Given the description of an element on the screen output the (x, y) to click on. 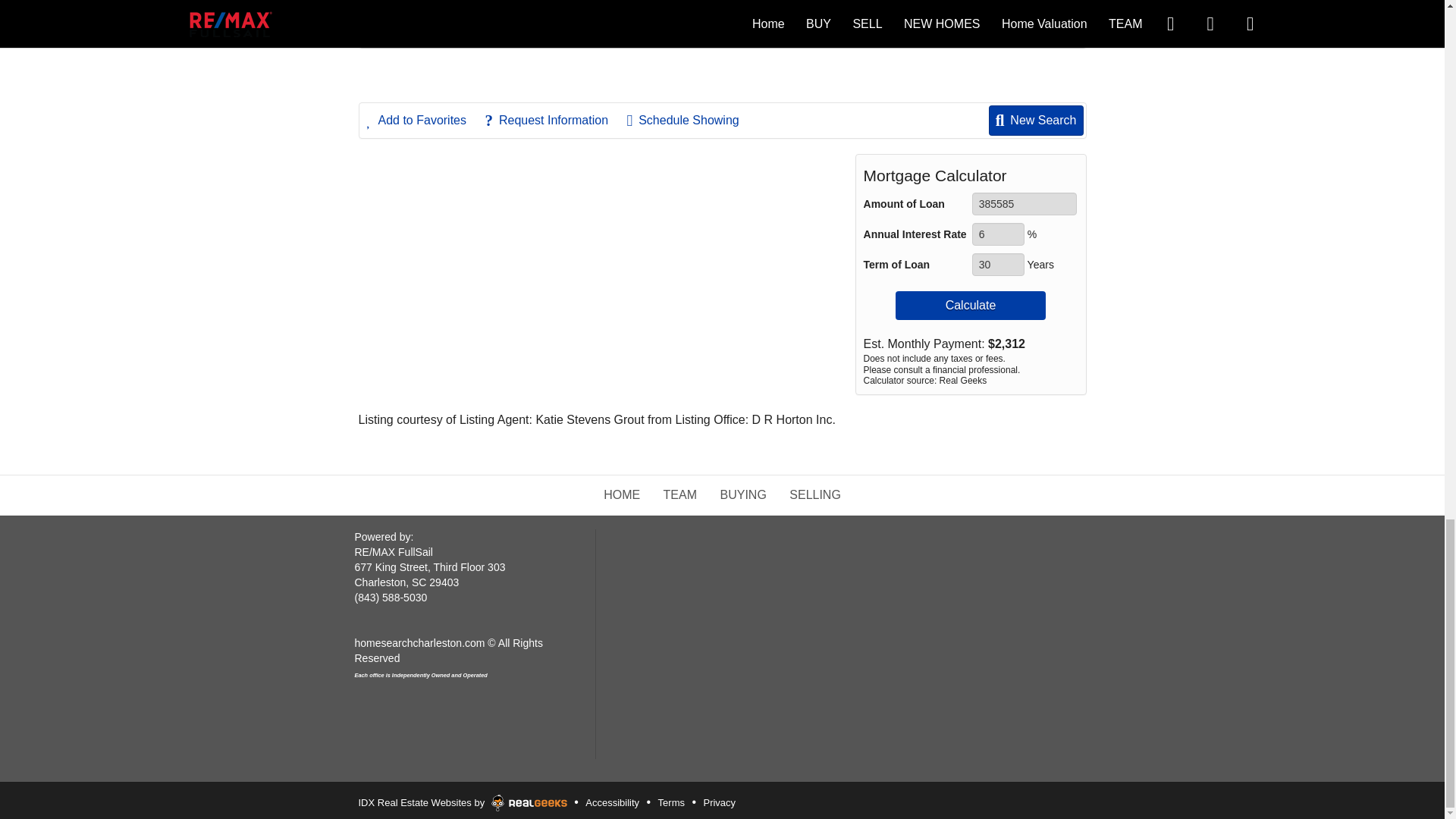
385585 (1024, 203)
6 (998, 233)
30 (998, 264)
